Given the description of an element on the screen output the (x, y) to click on. 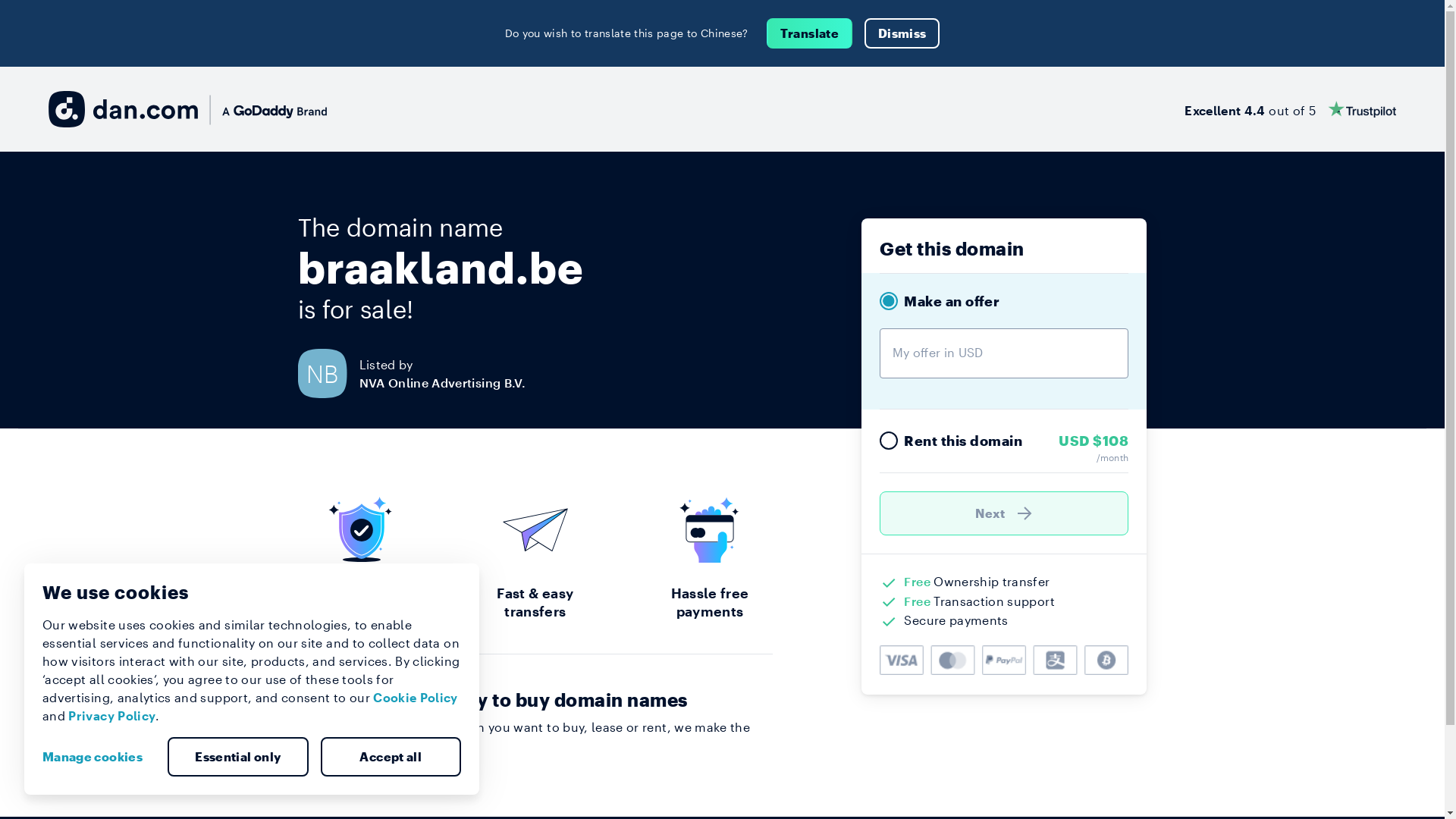
Accept all Element type: text (390, 756)
Next
) Element type: text (1003, 513)
Excellent 4.4 out of 5 Element type: text (1290, 109)
Translate Element type: text (809, 33)
Manage cookies Element type: text (98, 756)
Essential only Element type: text (237, 756)
Dismiss Element type: text (901, 33)
Privacy Policy Element type: text (111, 715)
Cookie Policy Element type: text (415, 697)
